Given the description of an element on the screen output the (x, y) to click on. 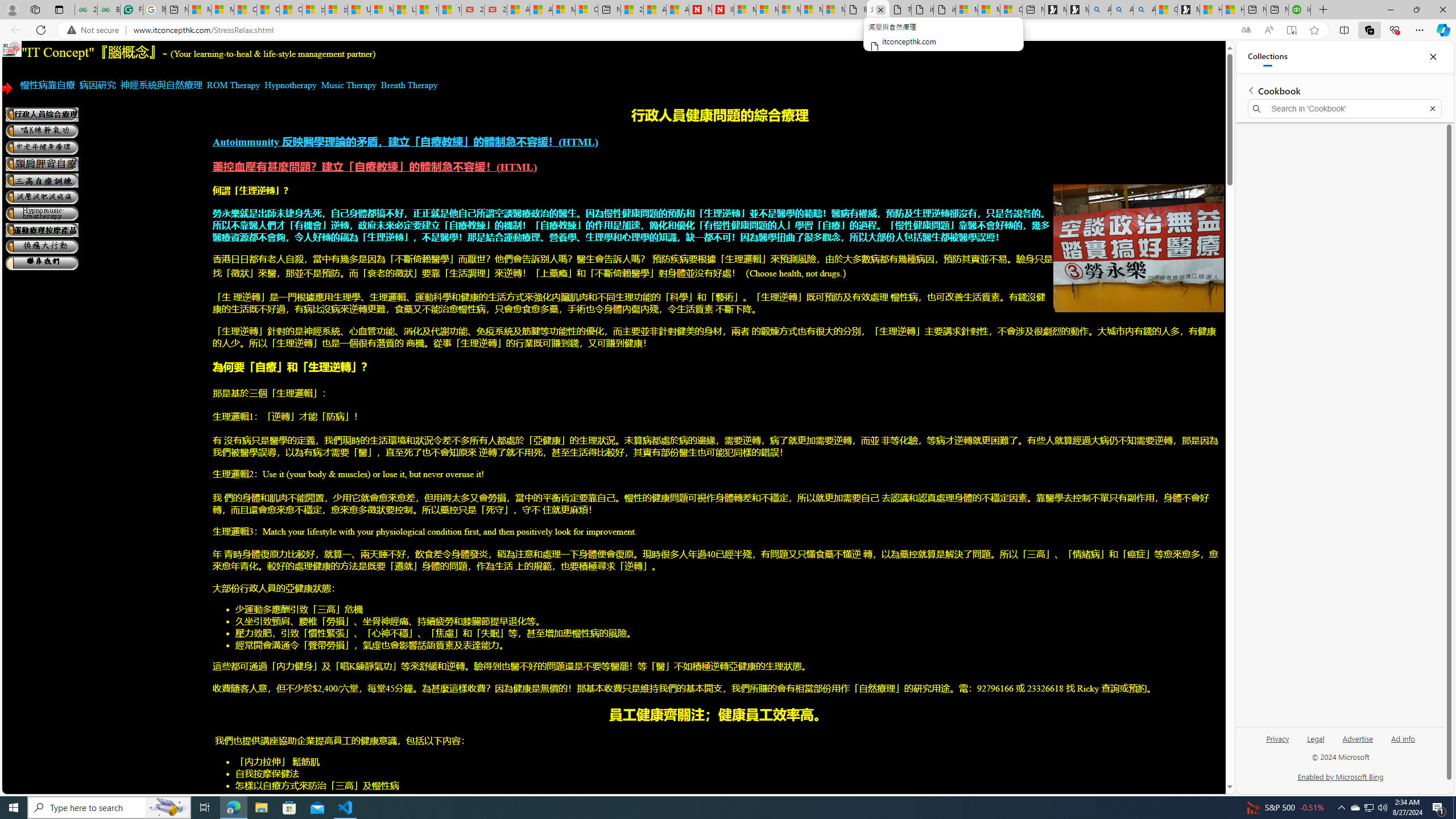
Free AI Writing Assistance for Students | Grammarly (131, 9)
Intuit QuickBooks Online - Quickbooks (1300, 9)
Back to list of collections (1250, 90)
Search in 'Cookbook' (1345, 108)
Not secure (95, 29)
Hypnotherapy (290, 85)
